Given the description of an element on the screen output the (x, y) to click on. 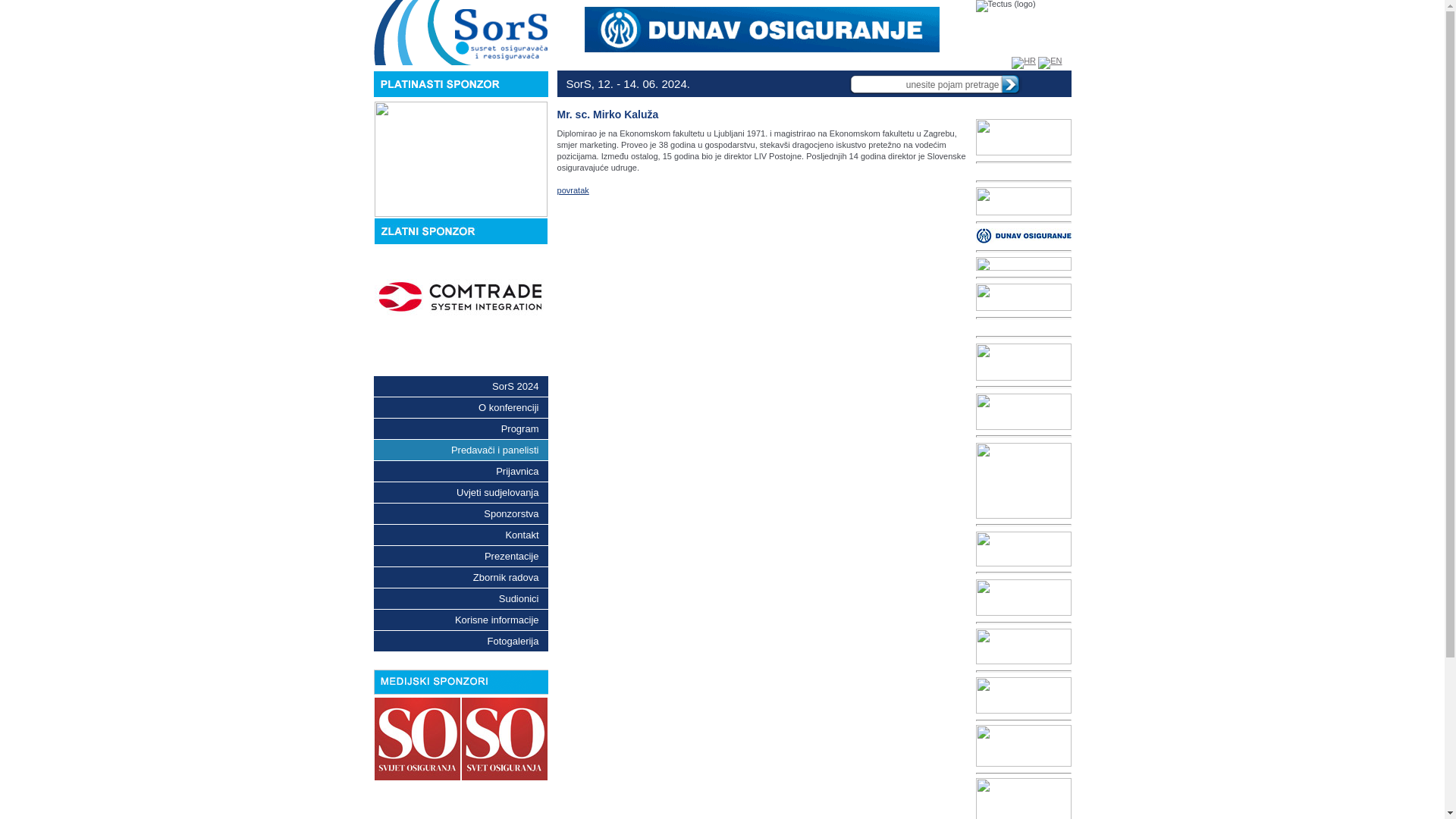
Sarajevo-osiguranje d.d. Element type: hover (1022, 480)
Prijavnica Element type: text (460, 471)
search Element type: text (1009, 83)
Lovcen osiguranje a.d. Podgorica Element type: hover (1022, 361)
e-mail Element type: text (1053, 83)
SorS 2024 Element type: text (460, 386)
Sponzorstva Element type: text (460, 513)
Fotogalerija Element type: text (460, 640)
Euroherc osiguranje d.d. Element type: hover (1022, 296)
Korisne informacije Element type: text (460, 619)
Kontakt Element type: text (460, 534)
Sudionici Element type: text (460, 598)
Prezentacije Element type: text (460, 556)
home Element type: text (1030, 83)
Uvjeti sudjelovanja Element type: text (460, 492)
Dunav osiguranje Element type: hover (1022, 235)
Zbornik radova Element type: text (460, 577)
povratak Element type: text (572, 189)
Program Element type: text (460, 428)
Pozavarovalnica Sava d.d. Element type: hover (1022, 597)
O konferenciji Element type: text (460, 407)
Dunav Re Element type: hover (1022, 263)
